Given the description of an element on the screen output the (x, y) to click on. 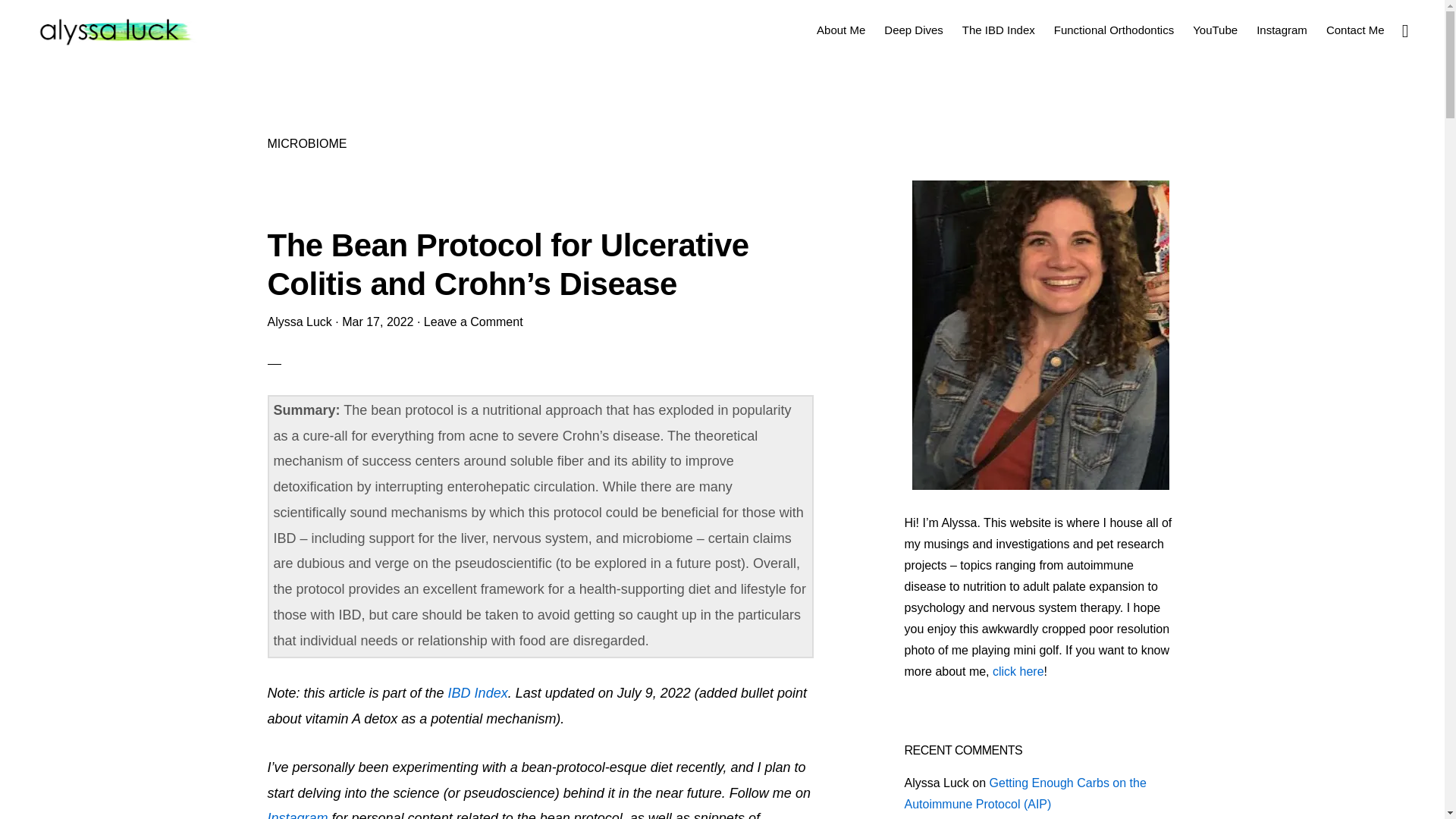
Leave a Comment (472, 321)
Functional Orthodontics (1113, 29)
Instagram (298, 814)
About Me (840, 29)
Alyssa Luck (298, 321)
Deep Dives (913, 29)
IBD Index (478, 693)
YouTube (1214, 29)
Instagram (1281, 29)
